Given the description of an element on the screen output the (x, y) to click on. 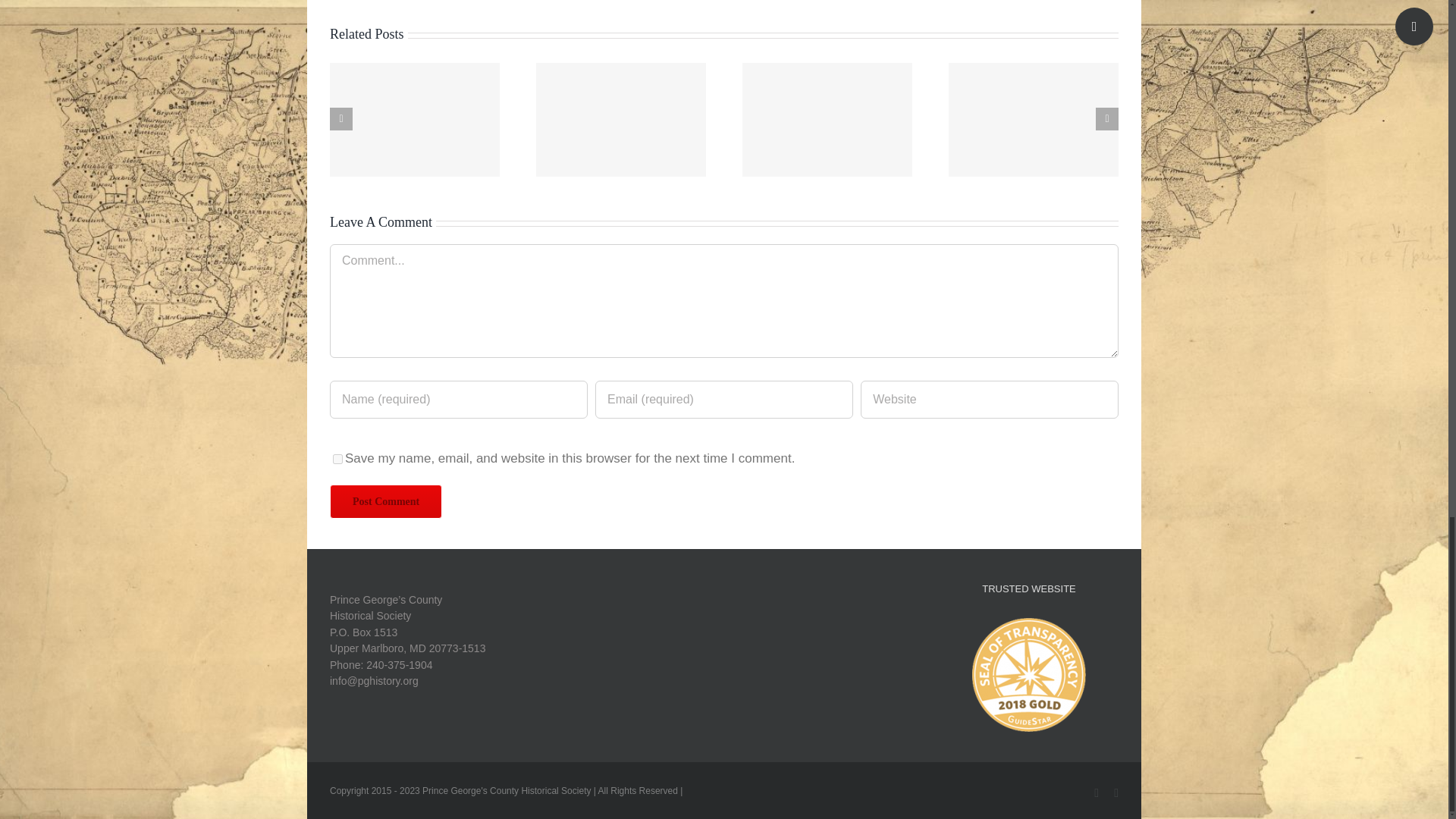
yes (337, 459)
Post Comment (386, 501)
